Given the description of an element on the screen output the (x, y) to click on. 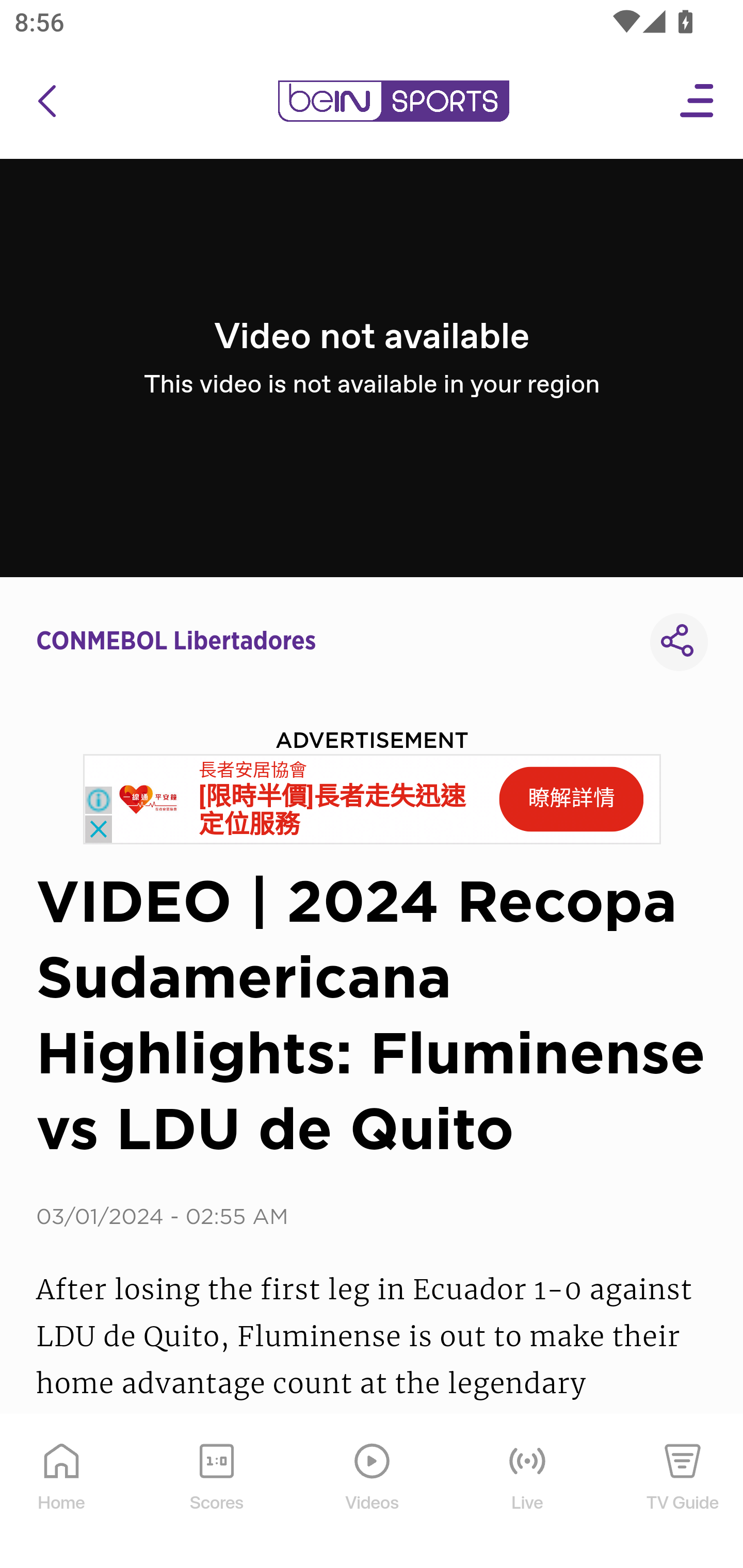
en-us?platform=mobile_android bein logo (392, 101)
icon back (46, 101)
Open Menu Icon (697, 101)
長者安居協會 (253, 769)
瞭解詳情 (571, 799)
[限時半價]長者走失迅速 定位服務 [限時半價]長者走失迅速 定位服務 (331, 811)
Home Home Icon Home (61, 1491)
Scores Scores Icon Scores (216, 1491)
Videos Videos Icon Videos (372, 1491)
TV Guide TV Guide Icon TV Guide (682, 1491)
